Given the description of an element on the screen output the (x, y) to click on. 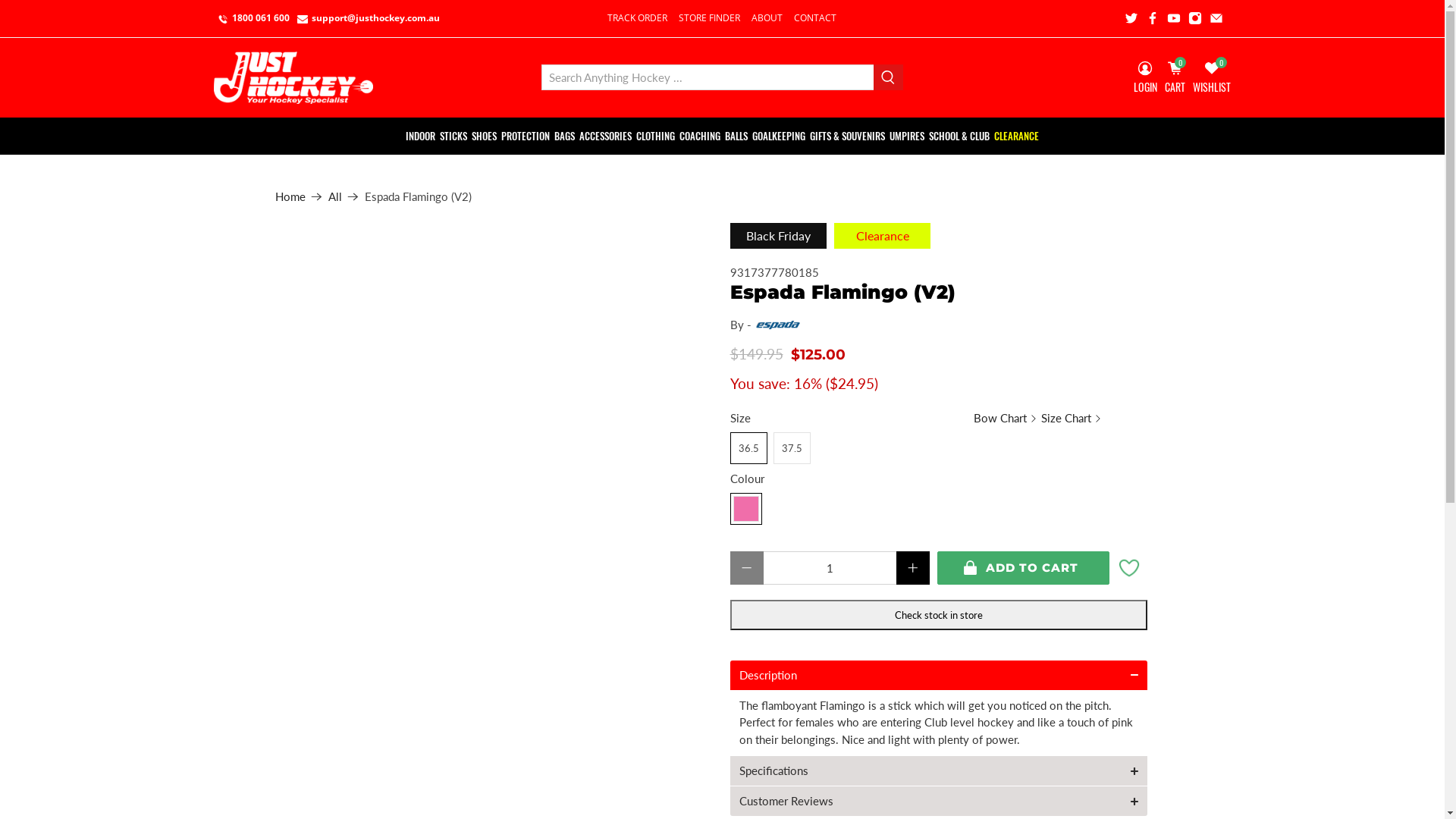
Specifications Element type: text (929, 770)
0
CART Element type: text (1174, 77)
Just Hockey on Facebook Element type: hover (1152, 18)
LOGIN Element type: text (1145, 77)
INDOOR Element type: text (420, 136)
ADD TO CART Element type: text (1023, 567)
STORE FINDER Element type: text (709, 18)
BAGS Element type: text (564, 136)
Bow Chart Element type: text (1002, 417)
CONTACT Element type: text (815, 18)
BALLS Element type: text (735, 136)
UMPIRES Element type: text (906, 136)
Just Hockey on YouTube Element type: hover (1173, 18)
0
WISHLIST Element type: text (1211, 77)
ACCESSORIES Element type: text (605, 136)
ABOUT Element type: text (767, 18)
CLOTHING Element type: text (655, 136)
COACHING Element type: text (699, 136)
GIFTS & SOUVENIRS Element type: text (847, 136)
Description Element type: text (929, 674)
CLEARANCE Element type: text (1016, 136)
GOALKEEPING Element type: text (778, 136)
TRACK ORDER Element type: text (637, 18)
PROTECTION Element type: text (525, 136)
SHOES Element type: text (483, 136)
Just Hockey Element type: hover (293, 77)
Customer Reviews Element type: text (929, 800)
support@justhockey.com.au Element type: text (368, 18)
STICKS Element type: text (453, 136)
Just Hockey on Instagram Element type: hover (1194, 18)
Check stock in store Element type: text (937, 614)
Just Hockey on Twitter Element type: hover (1131, 18)
1800 061 600 Element type: text (253, 18)
All Element type: text (334, 196)
Home Element type: text (289, 196)
Add to Wishlist Element type: text (1128, 567)
SCHOOL & CLUB Element type: text (958, 136)
Size Chart Element type: text (1069, 417)
Email Just Hockey Element type: hover (1216, 18)
